Given the description of an element on the screen output the (x, y) to click on. 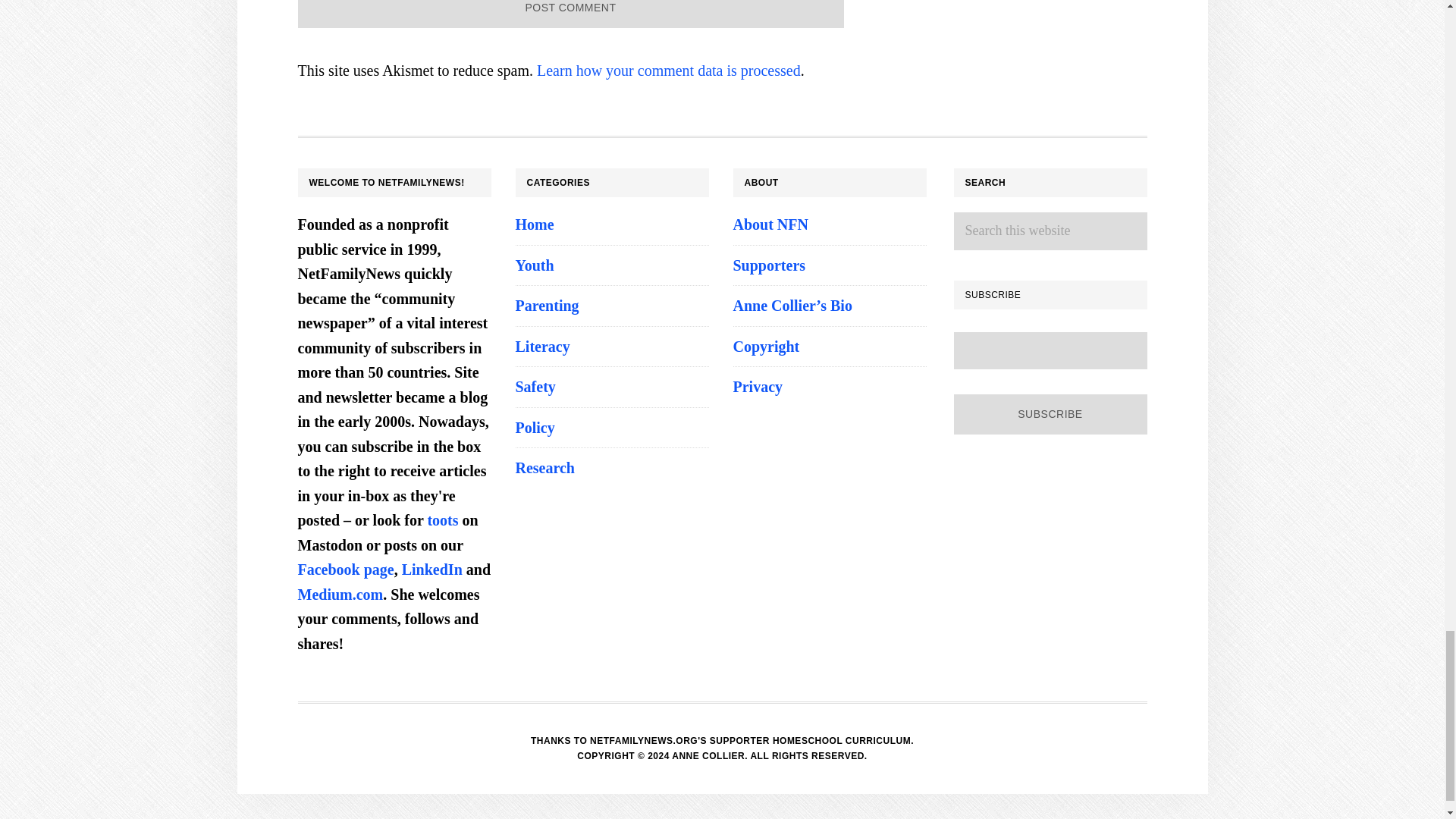
 Subscribe  (1050, 413)
Post Comment (570, 13)
